Given the description of an element on the screen output the (x, y) to click on. 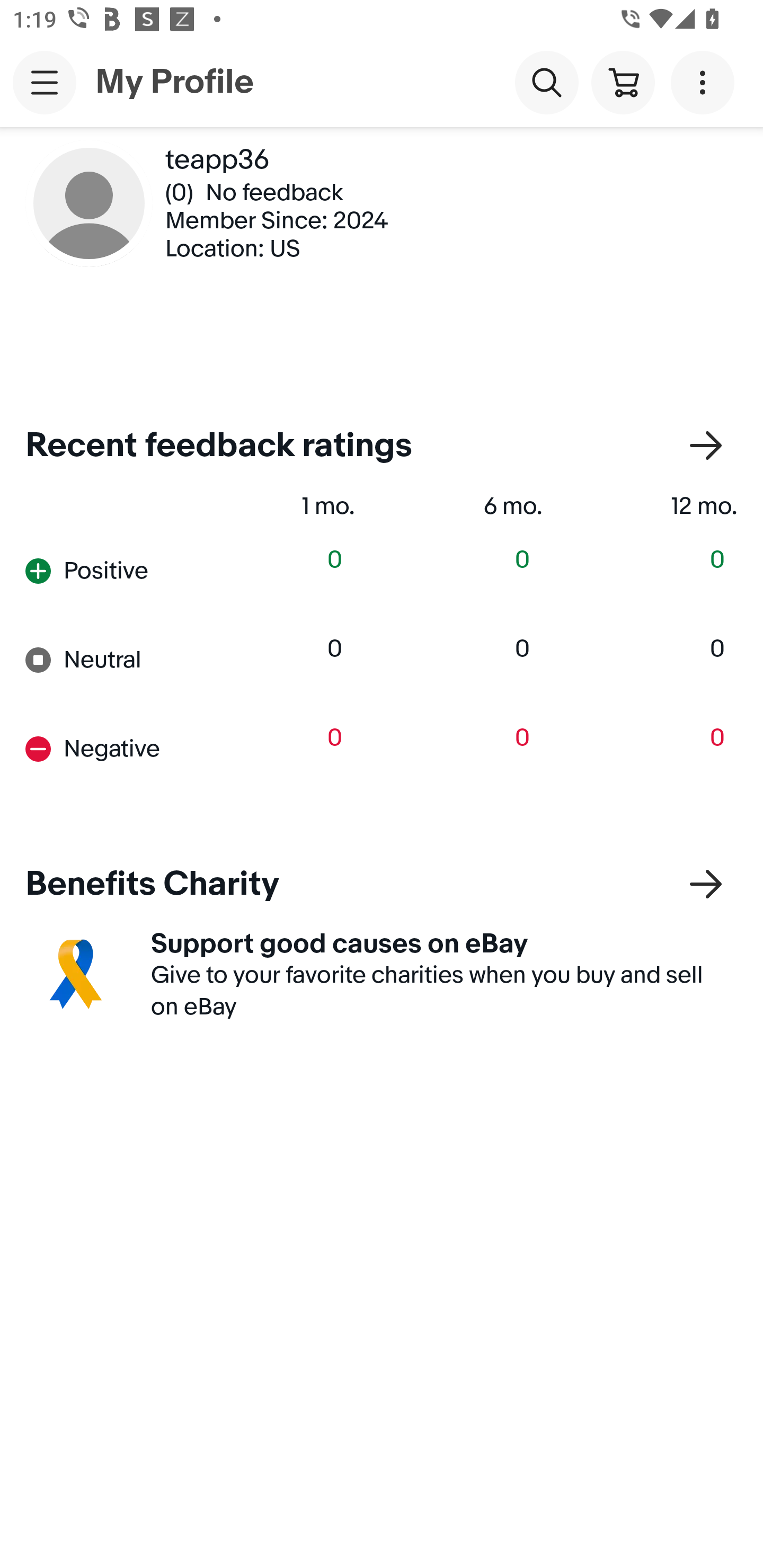
Main navigation, open (44, 82)
Search (546, 81)
Cart button shopping cart (623, 81)
More options (705, 81)
Recent feedback ratings (381, 446)
Positive Open all positive rating details. (112, 571)
Neutral Open all neutral rating details. (112, 659)
Negative Open all negative rating details. (112, 748)
Benefits Charity (381, 885)
